Given the description of an element on the screen output the (x, y) to click on. 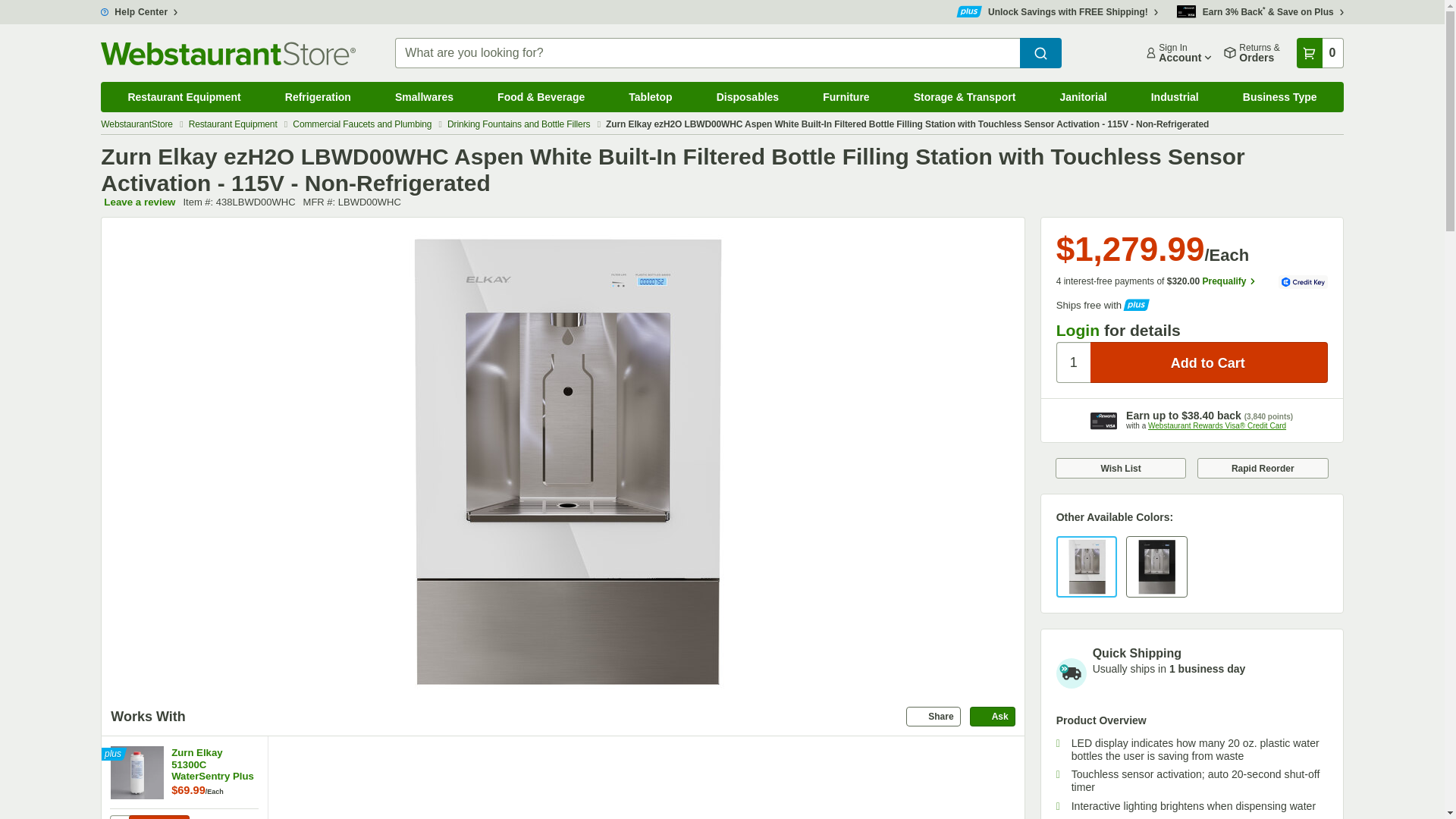
show submenu for Refrigeration (378, 87)
show submenu for Business Type (1345, 87)
Disposables (748, 96)
Janitorial (1082, 96)
Unlock Savings with FREE Shipping! (1056, 11)
0 (1320, 52)
Tabletop (650, 96)
Furniture (845, 96)
show submenu for Janitorial (1135, 87)
Commercial Faucets and Plumbing (362, 123)
Drinking Fountains and Bottle Fillers (519, 123)
1 (120, 816)
show submenu for Furniture (897, 87)
show submenu for Disposables (806, 87)
show submenu for Restaurant Equipment (269, 87)
